Given the description of an element on the screen output the (x, y) to click on. 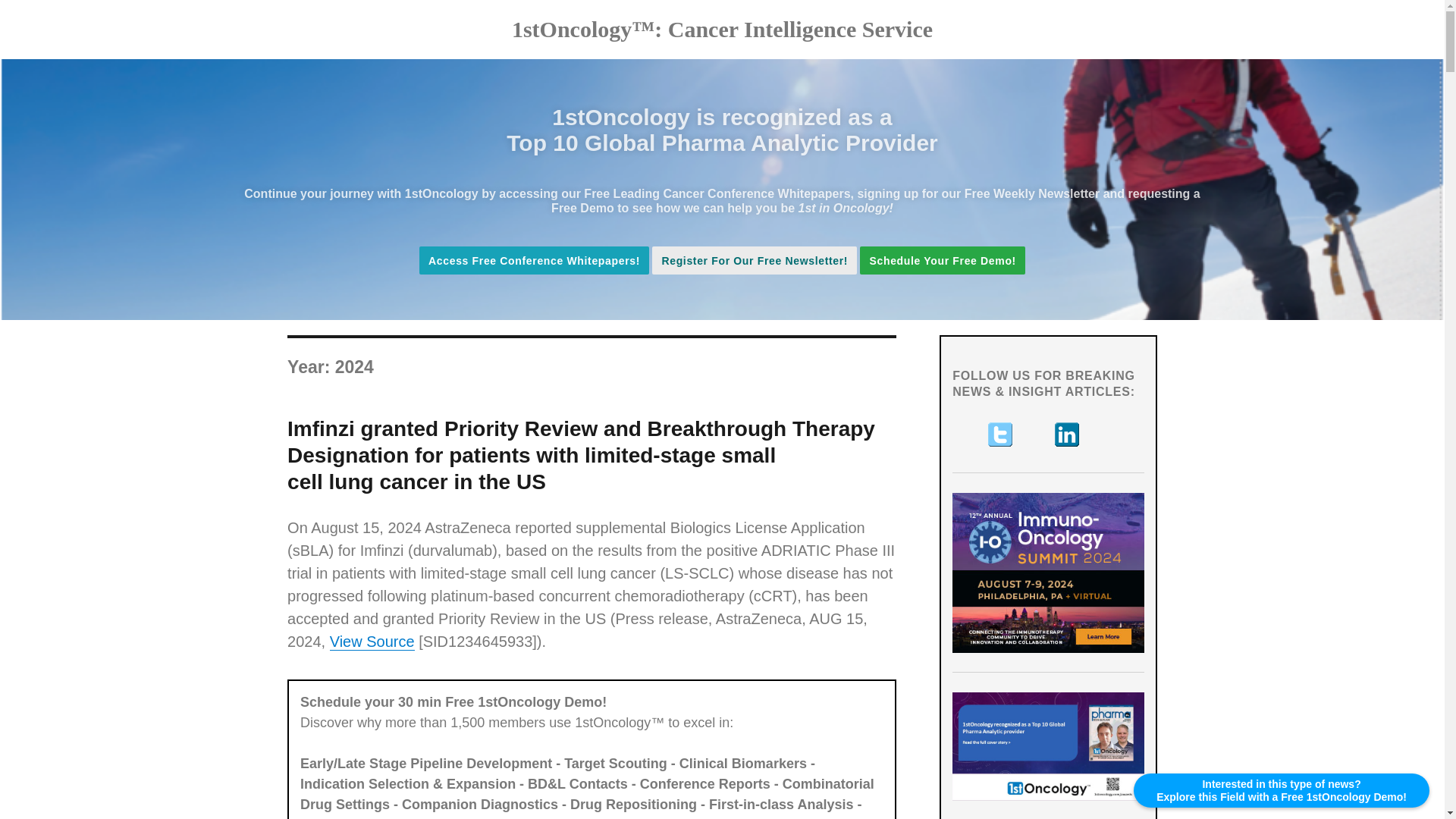
Register For Our Free Newsletter! (754, 260)
Access Free Conference Whitepapers! (534, 260)
Schedule Your Free Demo! (942, 260)
IO Summit 2024 (1048, 572)
Access Free Conference Whitepapers! (534, 260)
Schedule Your Free Demo! (942, 260)
Follow us on Twitter (1000, 434)
Register for our 1stOncologyWeekly Newsletter! (754, 260)
View Source (372, 641)
